Given the description of an element on the screen output the (x, y) to click on. 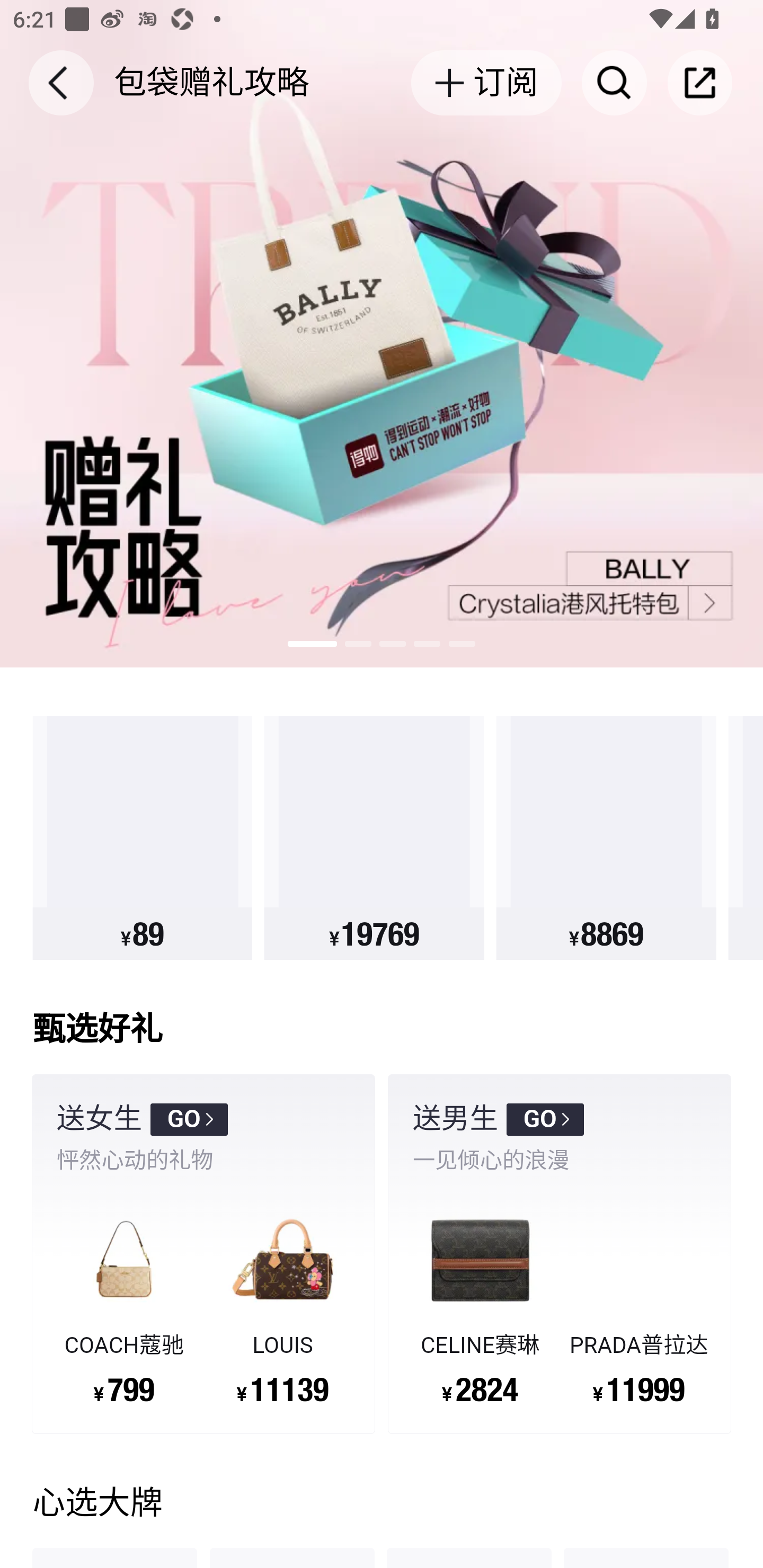
img ¥89 (142, 838)
img ¥19769 (373, 838)
img ¥8869 (606, 838)
送女生 GO 怦然心动的礼物 (202, 1137)
送男生 GO 一见倾心的浪漫 (559, 1137)
